Given the description of an element on the screen output the (x, y) to click on. 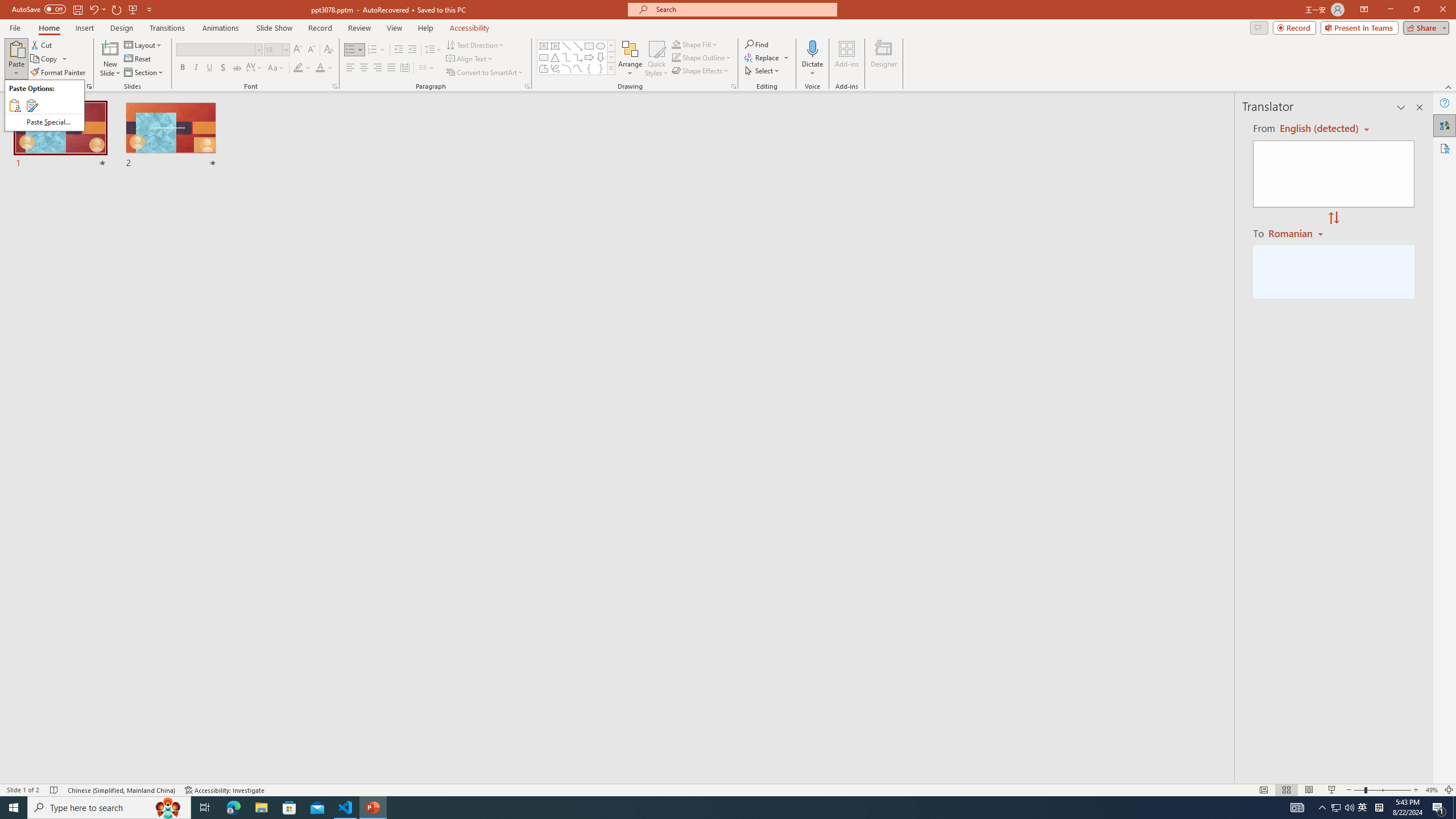
Cut (42, 44)
Designer (883, 58)
Paragraph... (526, 85)
Open (1362, 807)
Text Highlight Color Yellow (285, 49)
Visual Studio Code - 1 running window (297, 67)
Clear Formatting (345, 807)
Find... (1335, 807)
Swap "from" and "to" languages. (327, 49)
